Given the description of an element on the screen output the (x, y) to click on. 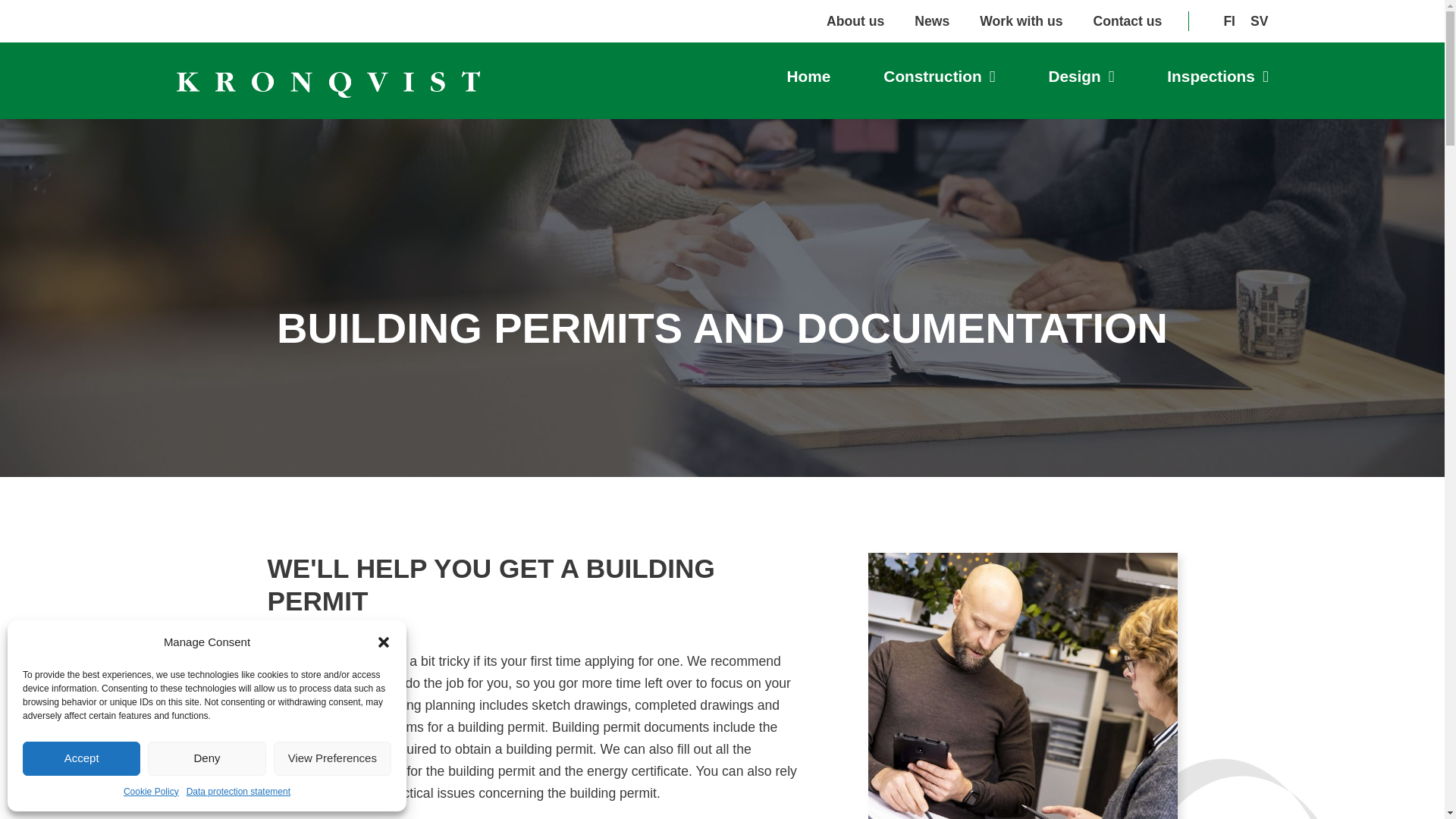
View Preferences (332, 758)
Design (1080, 76)
Contact us (1127, 20)
Deny (206, 758)
Cookie Policy (151, 791)
About us (855, 20)
Construction (938, 76)
Work with us (1020, 20)
Inspections (1217, 76)
Data protection statement (237, 791)
